Given the description of an element on the screen output the (x, y) to click on. 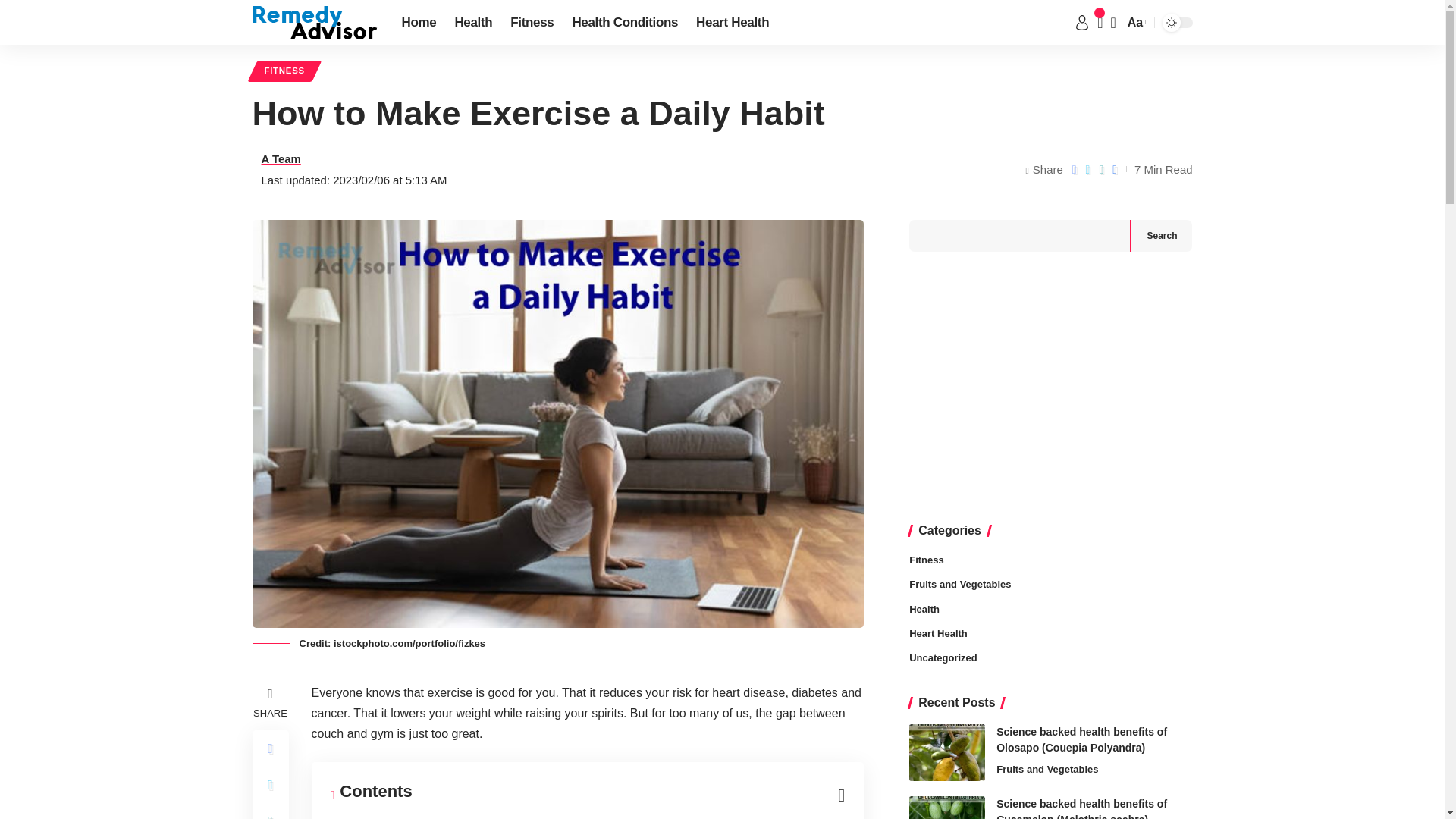
Fitness (531, 22)
Health (472, 22)
Heart Health (732, 22)
Aa (1135, 22)
Health Conditions (624, 22)
Home (419, 22)
Remedy Advisor (314, 22)
Advertisement (1050, 387)
